Given the description of an element on the screen output the (x, y) to click on. 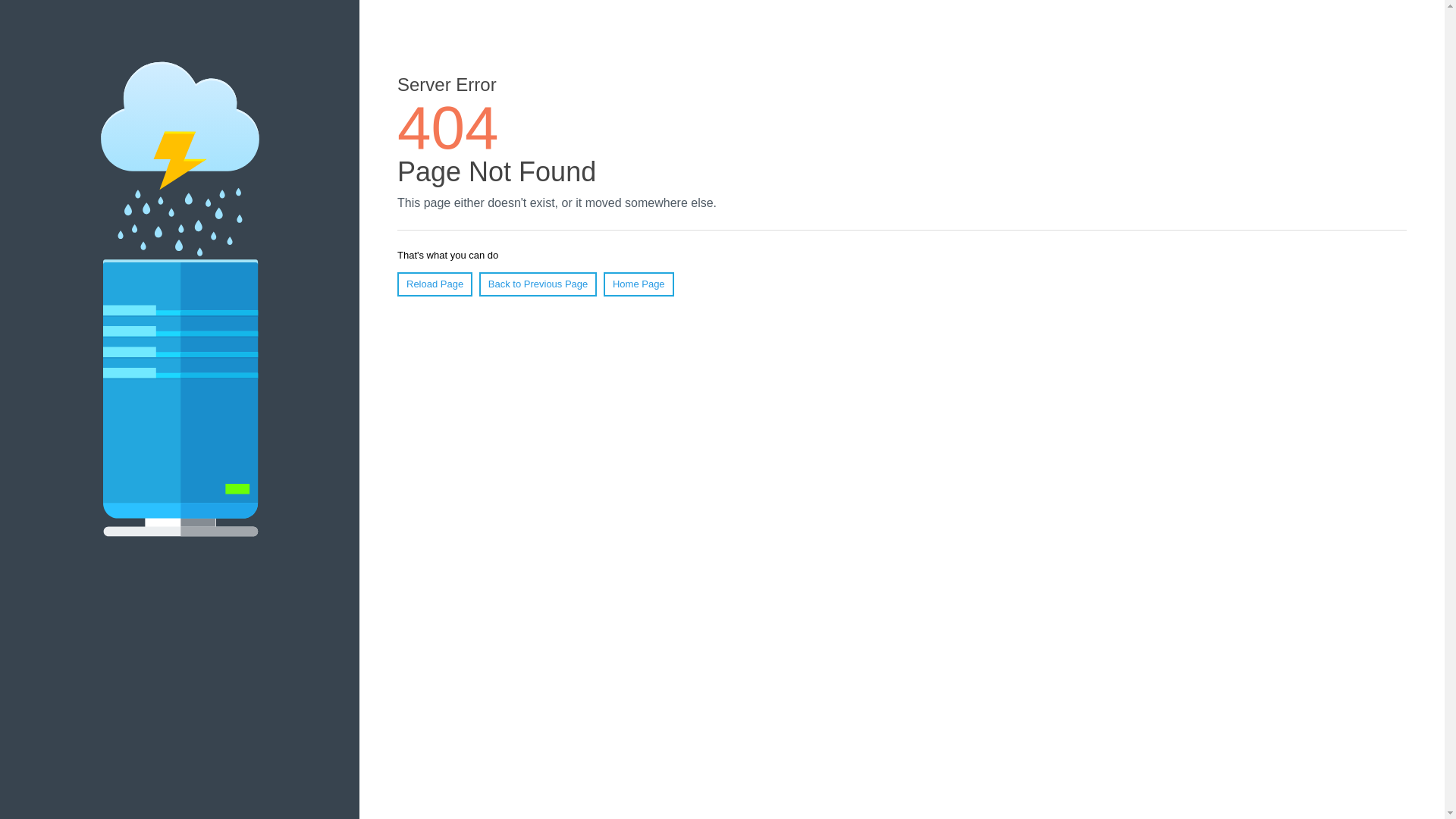
Home Page Element type: text (638, 284)
Back to Previous Page Element type: text (538, 284)
Reload Page Element type: text (434, 284)
